Given the description of an element on the screen output the (x, y) to click on. 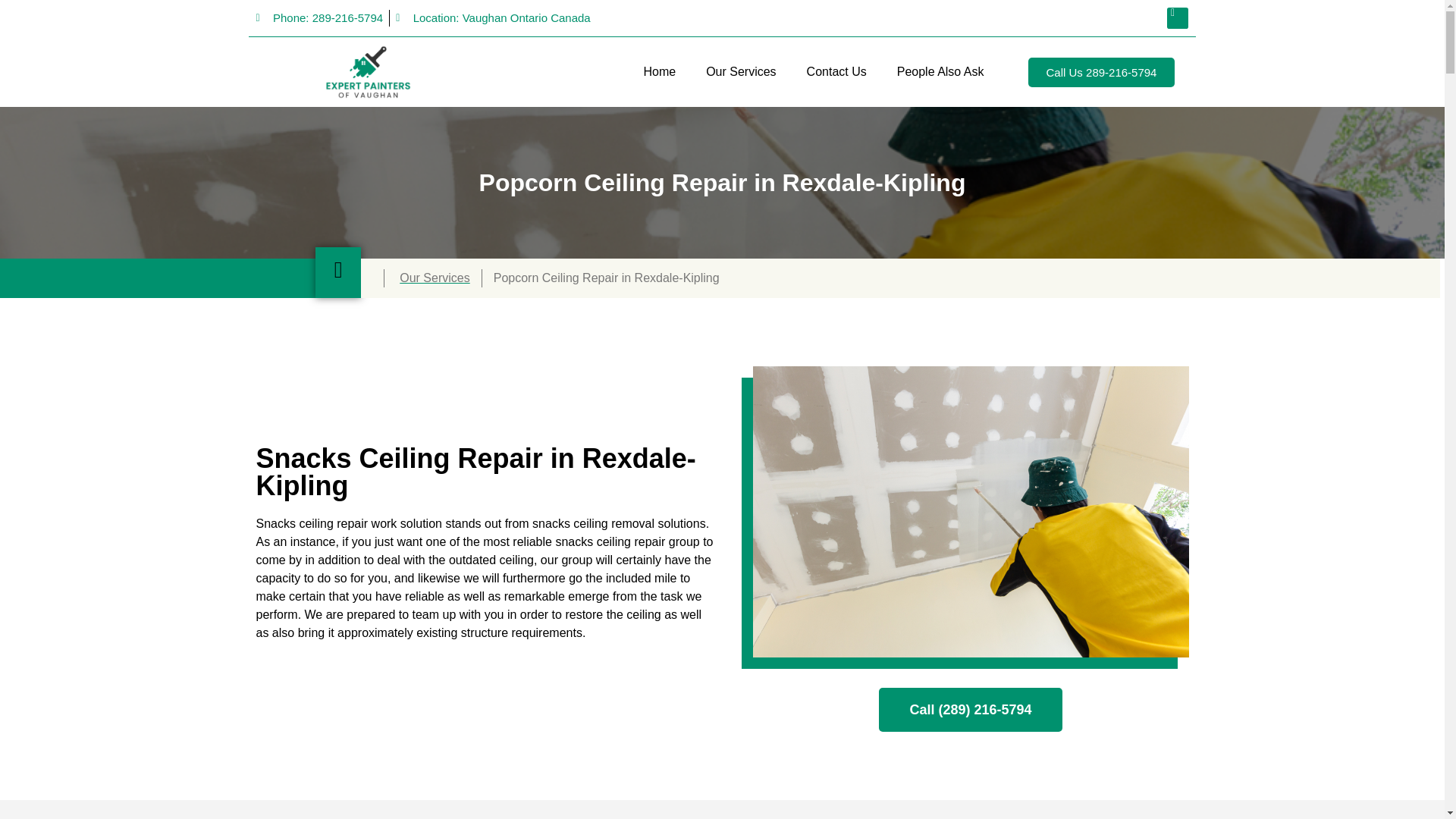
Home (658, 71)
Our Services (740, 71)
Contact Us (837, 71)
Location: Vaughan Ontario Canada (493, 18)
Phone: 289-216-5794 (320, 18)
